Given the description of an element on the screen output the (x, y) to click on. 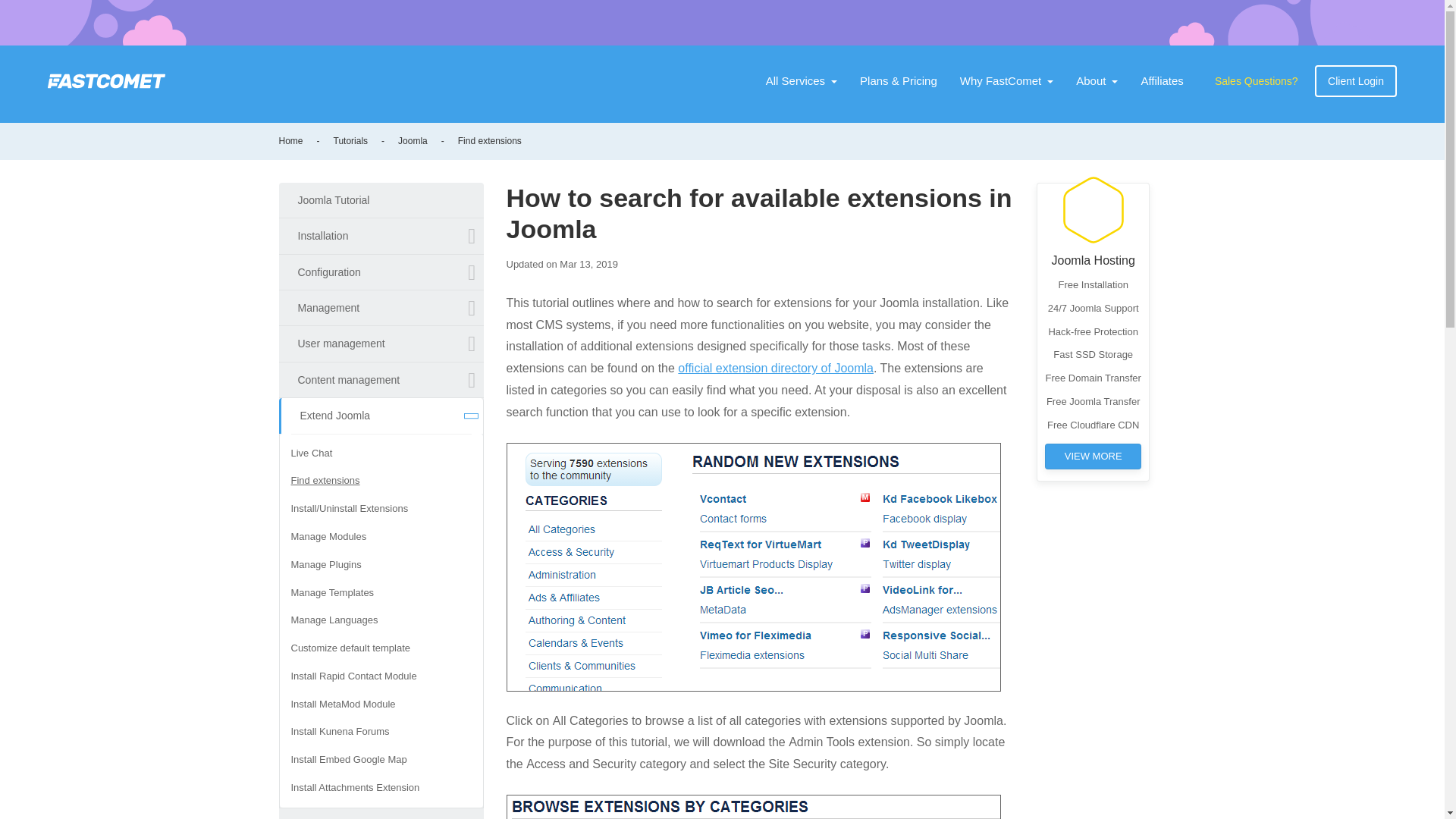
fastcomet-logo-white (106, 81)
Affiliates (1161, 81)
All Services (801, 81)
About (1096, 81)
Why FastComet (1007, 81)
fastcomet-logo-white (106, 80)
